Given the description of an element on the screen output the (x, y) to click on. 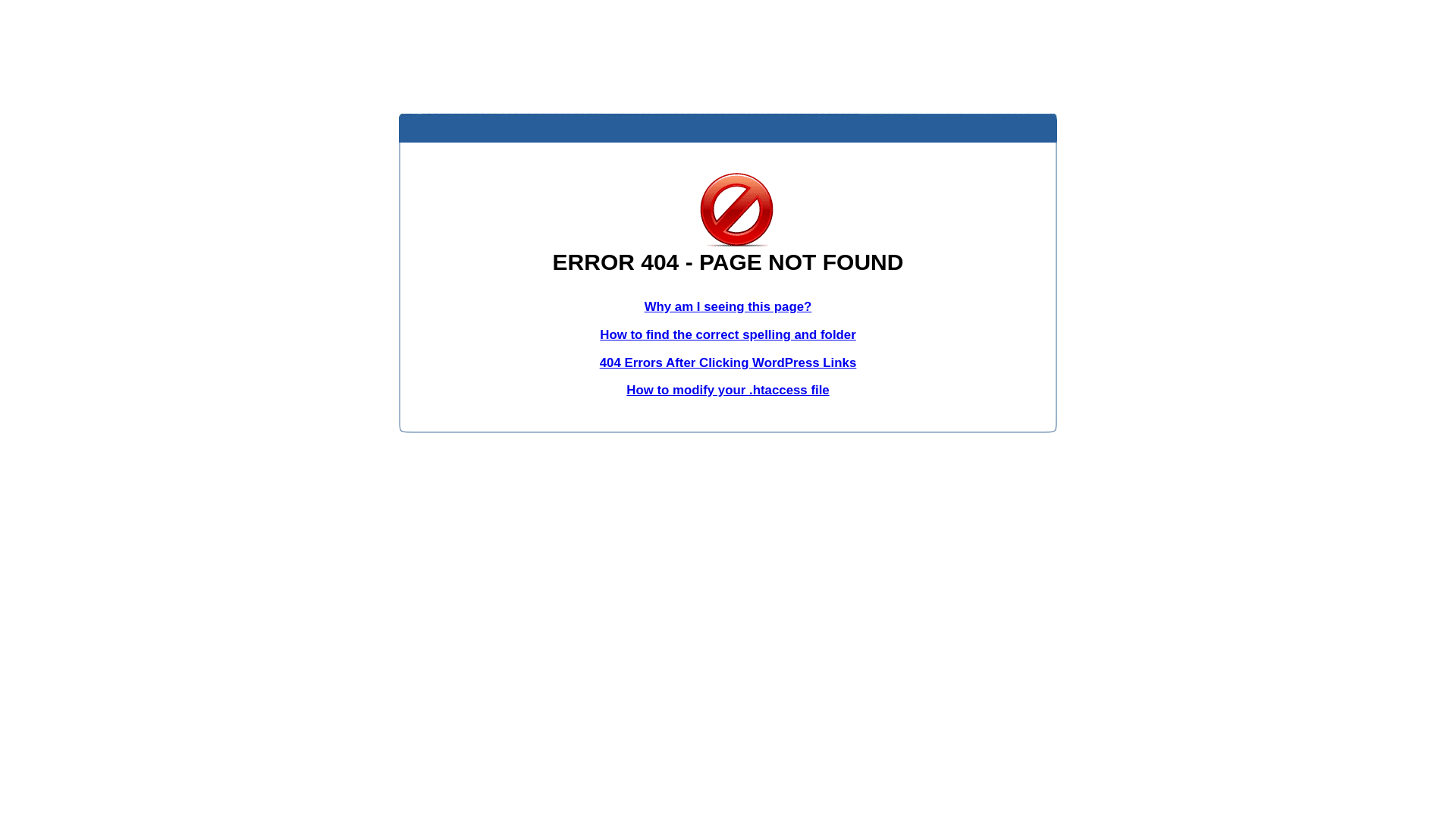
How to modify your .htaccess file Element type: text (727, 389)
How to find the correct spelling and folder Element type: text (727, 334)
404 Errors After Clicking WordPress Links Element type: text (727, 362)
Why am I seeing this page? Element type: text (728, 306)
